Given the description of an element on the screen output the (x, y) to click on. 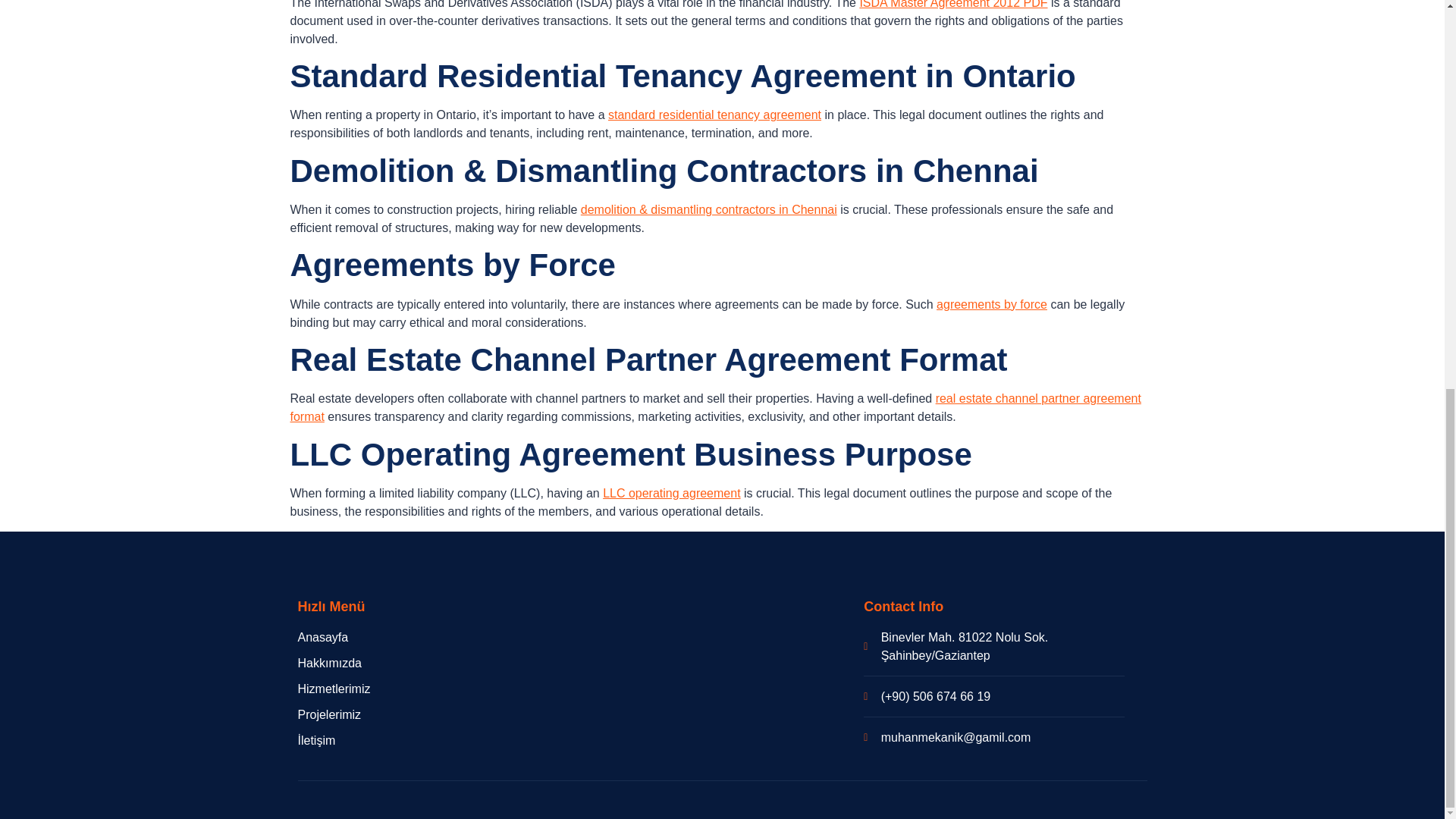
real estate channel partner agreement format (714, 407)
Anasayfa (438, 637)
Projelerimiz (438, 714)
Hizmetlerimiz (438, 689)
standard residential tenancy agreement (714, 114)
agreements by force (991, 304)
ISDA Master Agreement 2012 PDF (952, 4)
LLC operating agreement (670, 492)
